Given the description of an element on the screen output the (x, y) to click on. 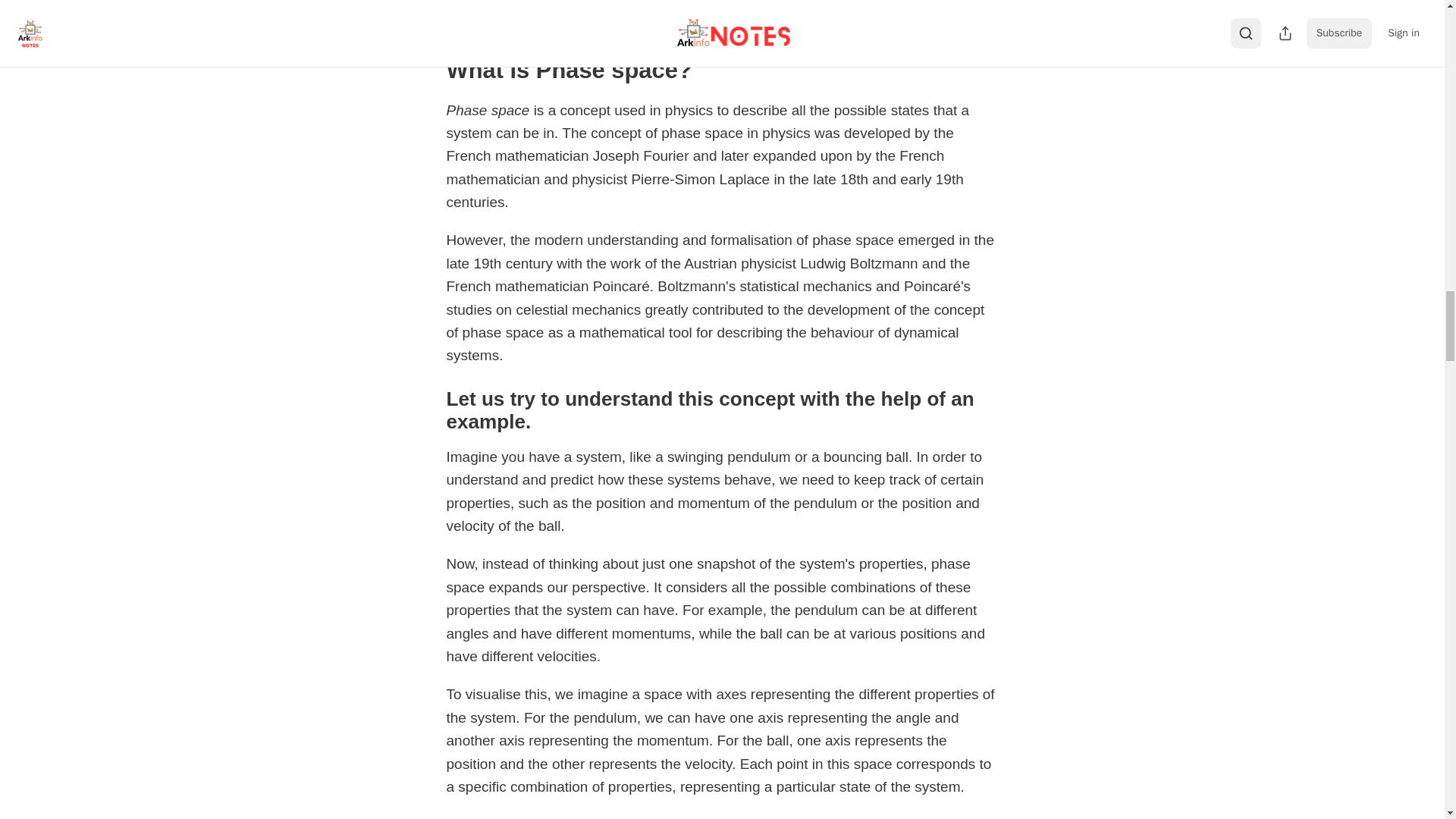
Subscribe (827, 19)
